Given the description of an element on the screen output the (x, y) to click on. 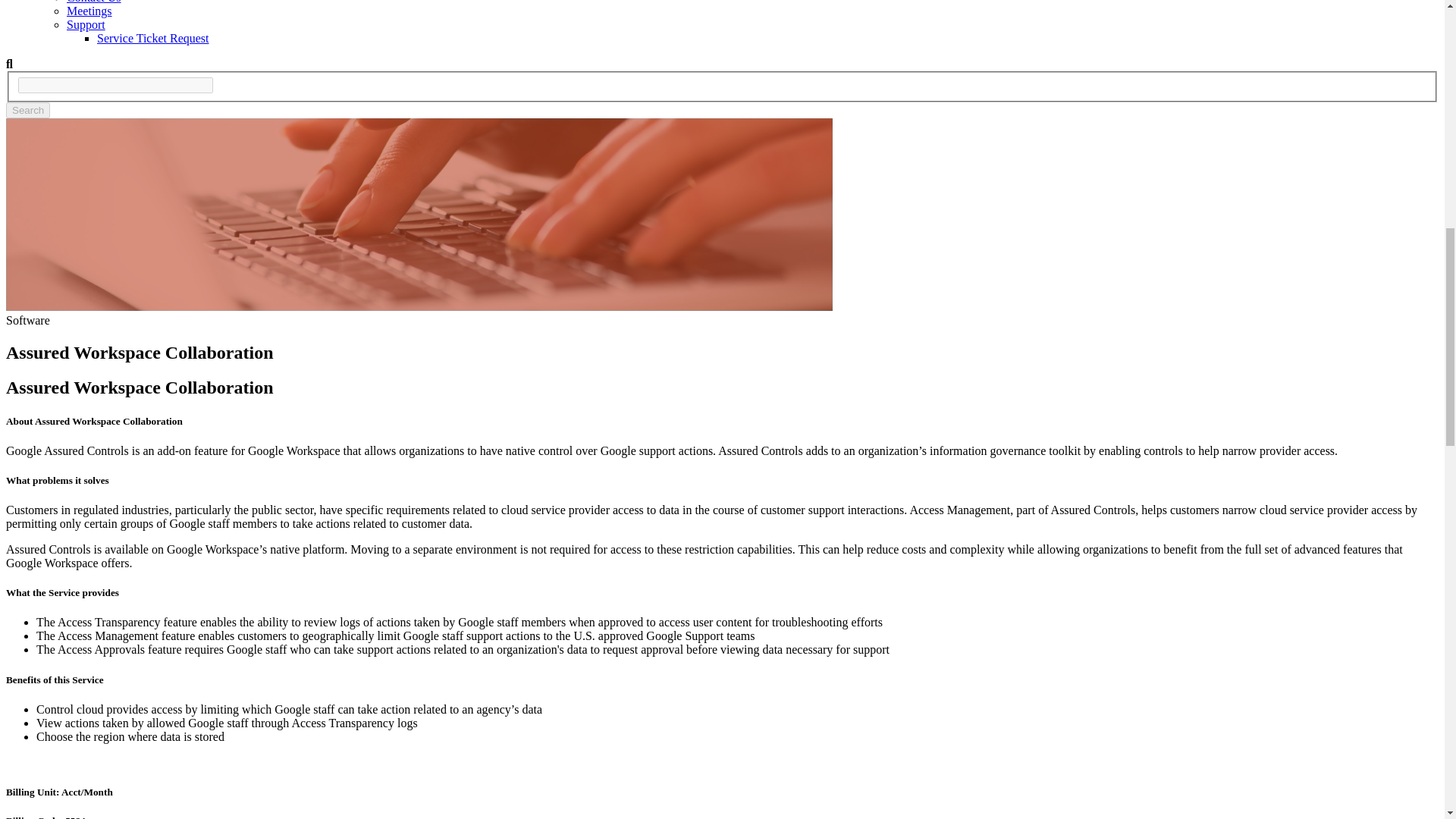
Search (27, 109)
